Given the description of an element on the screen output the (x, y) to click on. 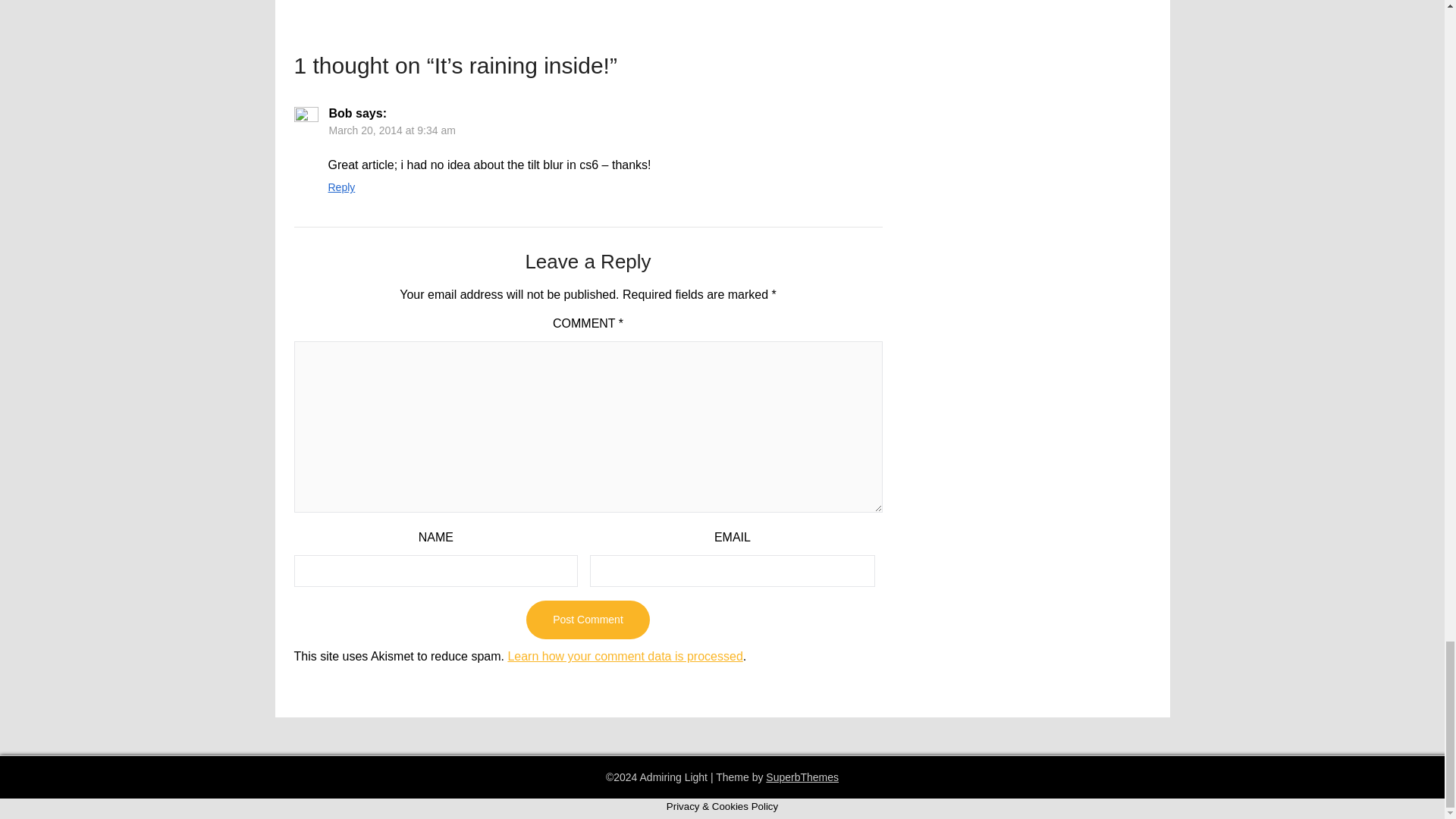
Reply (341, 186)
March 20, 2014 at 9:34 am (392, 130)
Learn how your comment data is processed (624, 656)
Post Comment (587, 619)
Post Comment (587, 619)
